Given the description of an element on the screen output the (x, y) to click on. 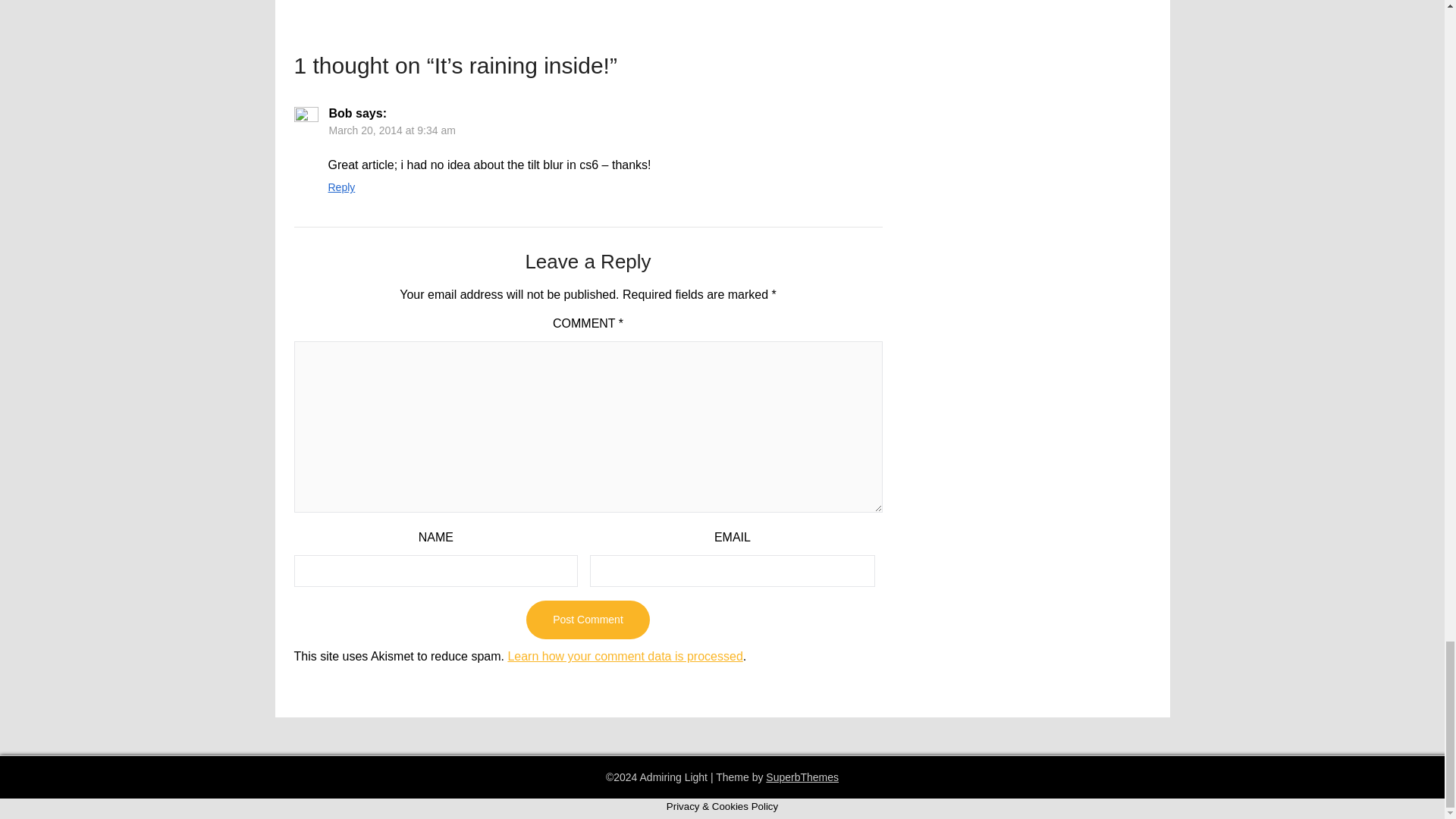
Reply (341, 186)
March 20, 2014 at 9:34 am (392, 130)
Learn how your comment data is processed (624, 656)
Post Comment (587, 619)
Post Comment (587, 619)
